Given the description of an element on the screen output the (x, y) to click on. 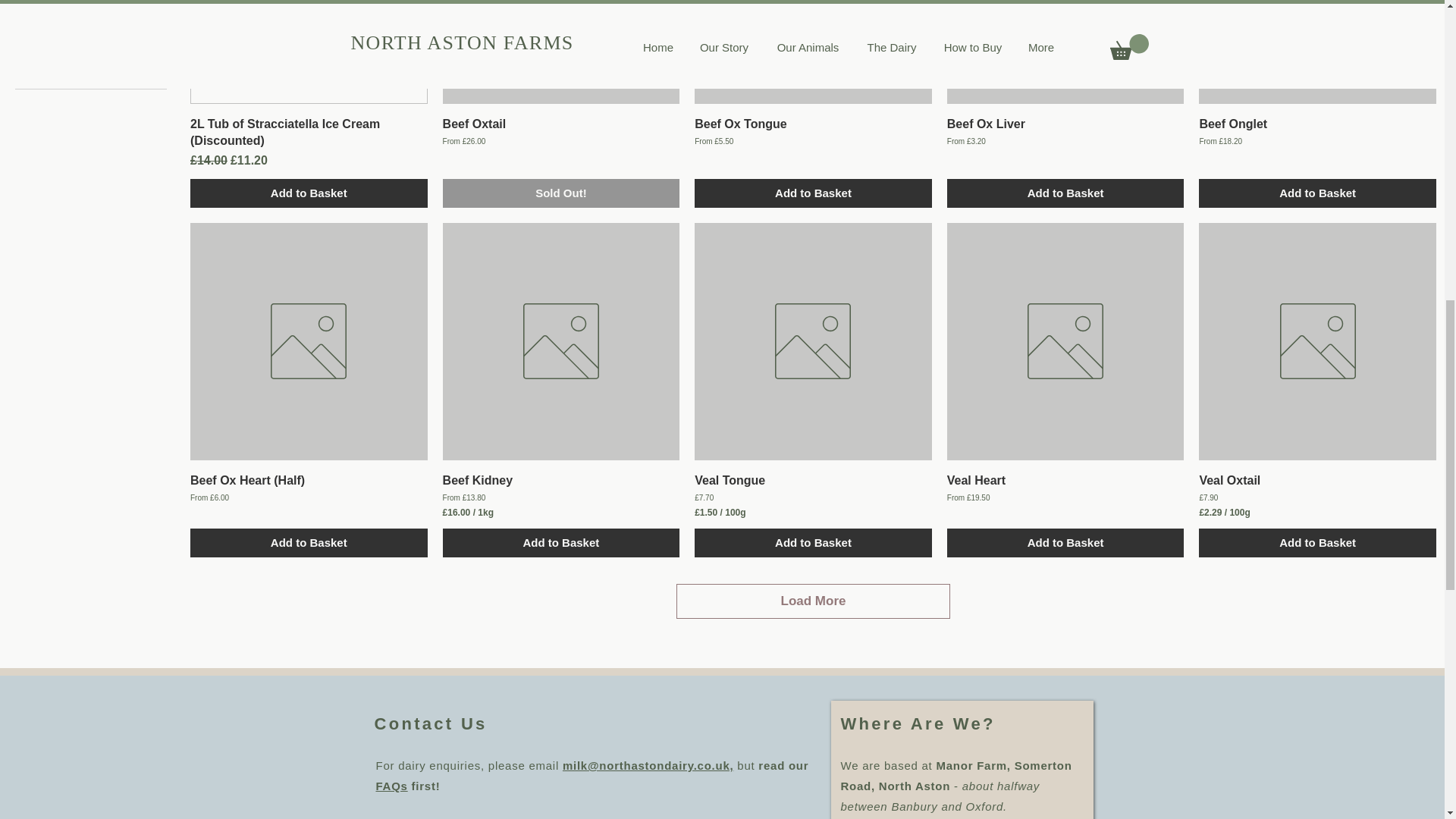
Type (90, 10)
Weight (90, 62)
